Given the description of an element on the screen output the (x, y) to click on. 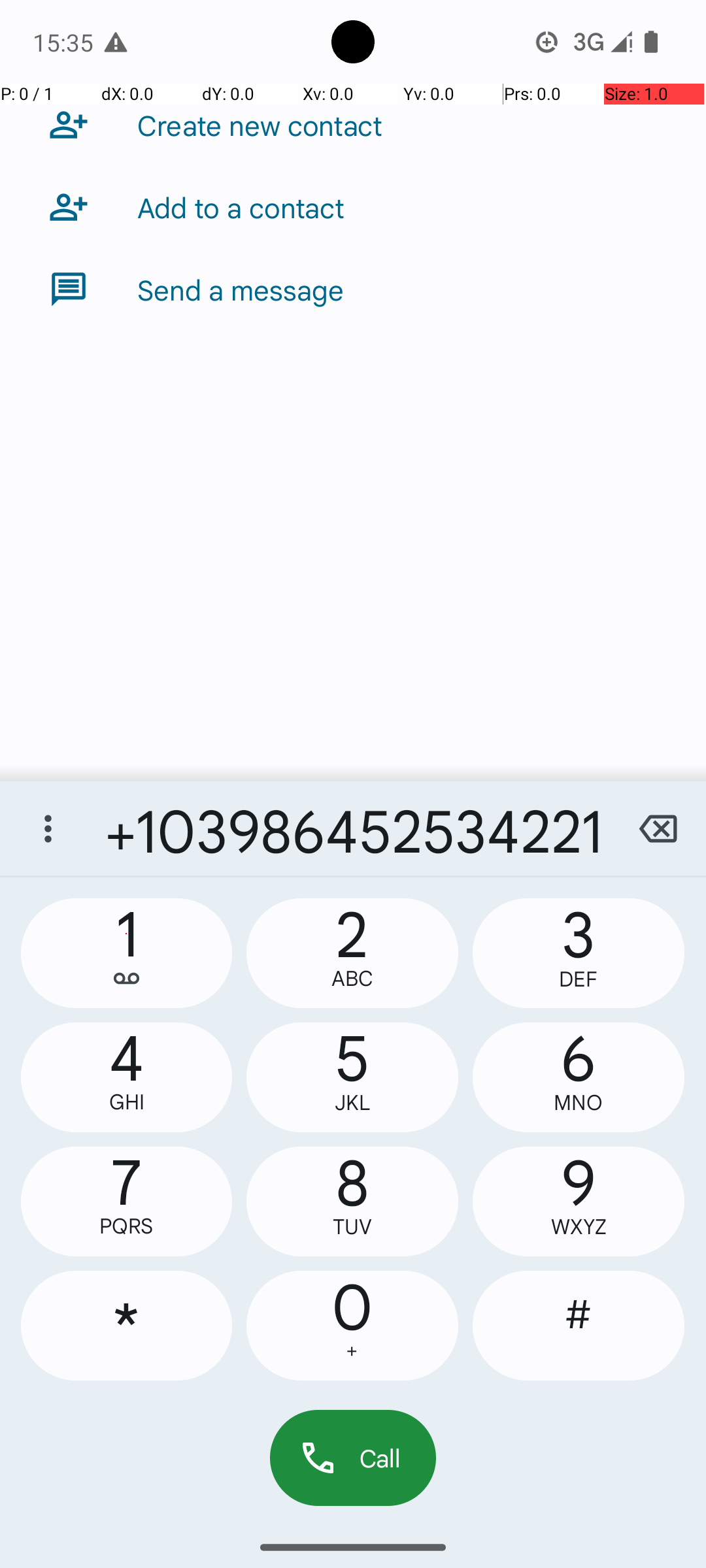
Call Element type: android.widget.Button (352, 1457)
+103986452534221 Element type: android.widget.EditText (352, 828)
backspace Element type: android.widget.ImageButton (657, 828)
1, Element type: android.widget.FrameLayout (126, 953)
2,ABC Element type: android.widget.FrameLayout (352, 953)
3,DEF Element type: android.widget.FrameLayout (578, 953)
4,GHI Element type: android.widget.FrameLayout (126, 1077)
5,JKL Element type: android.widget.FrameLayout (352, 1077)
6,MNO Element type: android.widget.FrameLayout (578, 1077)
7,PQRS Element type: android.widget.FrameLayout (126, 1201)
8,TUV Element type: android.widget.FrameLayout (352, 1201)
9,WXYZ Element type: android.widget.FrameLayout (578, 1201)
* Element type: android.widget.FrameLayout (126, 1325)
# Element type: android.widget.FrameLayout (578, 1325)
ABC Element type: android.widget.TextView (351, 978)
DEF Element type: android.widget.TextView (578, 978)
GHI Element type: android.widget.TextView (126, 1101)
JKL Element type: android.widget.TextView (351, 1102)
MNO Element type: android.widget.TextView (578, 1102)
PQRS Element type: android.widget.TextView (126, 1225)
TUV Element type: android.widget.TextView (351, 1226)
WXYZ Element type: android.widget.TextView (578, 1226)
+ Element type: android.widget.TextView (351, 1351)
Create new contact Element type: android.widget.TextView (260, 124)
Add to a contact Element type: android.widget.TextView (240, 206)
Send a message Element type: android.widget.TextView (240, 289)
